Given the description of an element on the screen output the (x, y) to click on. 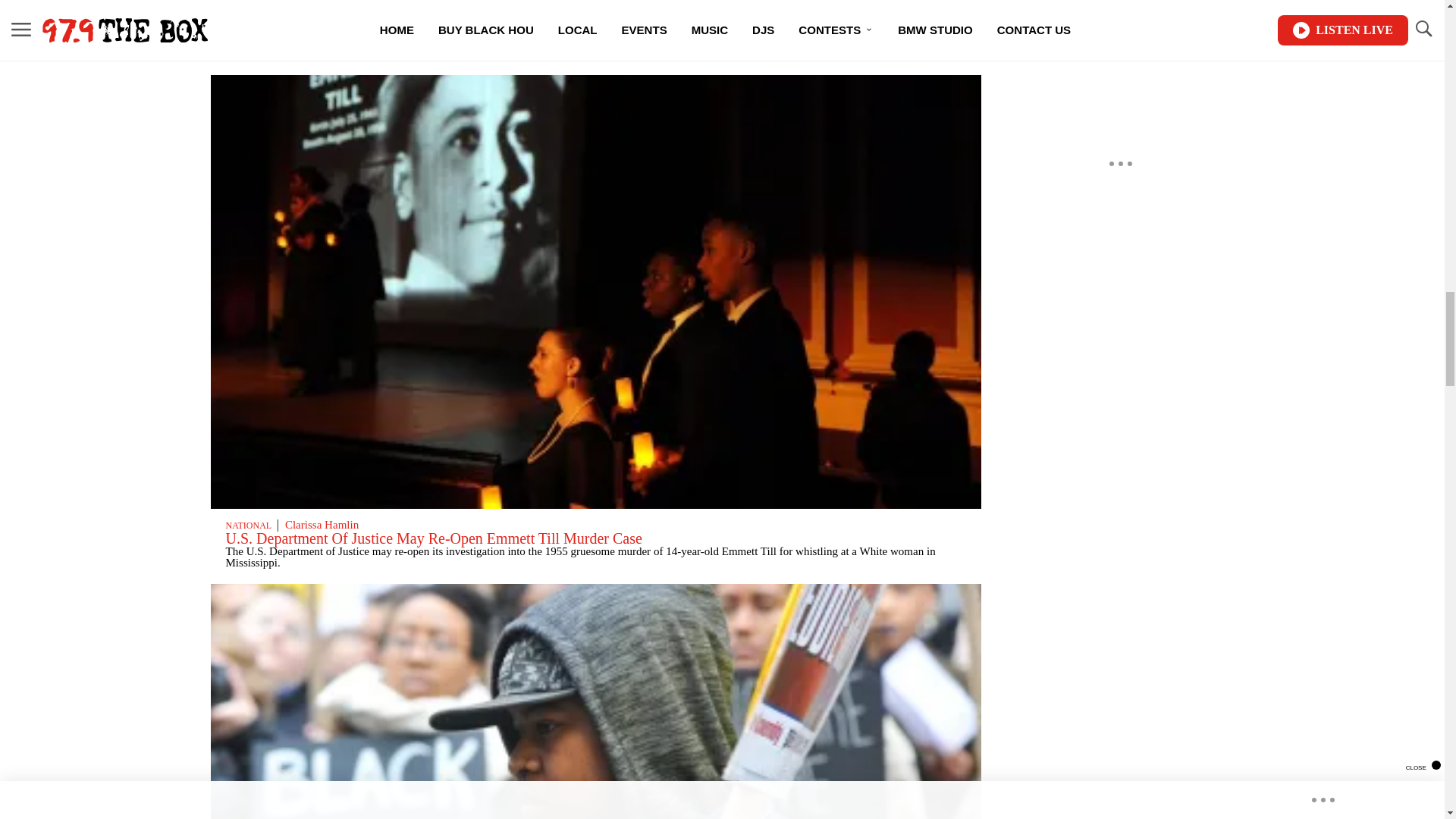
NATIONAL (247, 16)
Clarissa Hamlin (321, 15)
Judge Approves Baltimore Police Department Overhaul (394, 29)
Clarissa Hamlin (321, 524)
NATIONAL (247, 525)
